Given the description of an element on the screen output the (x, y) to click on. 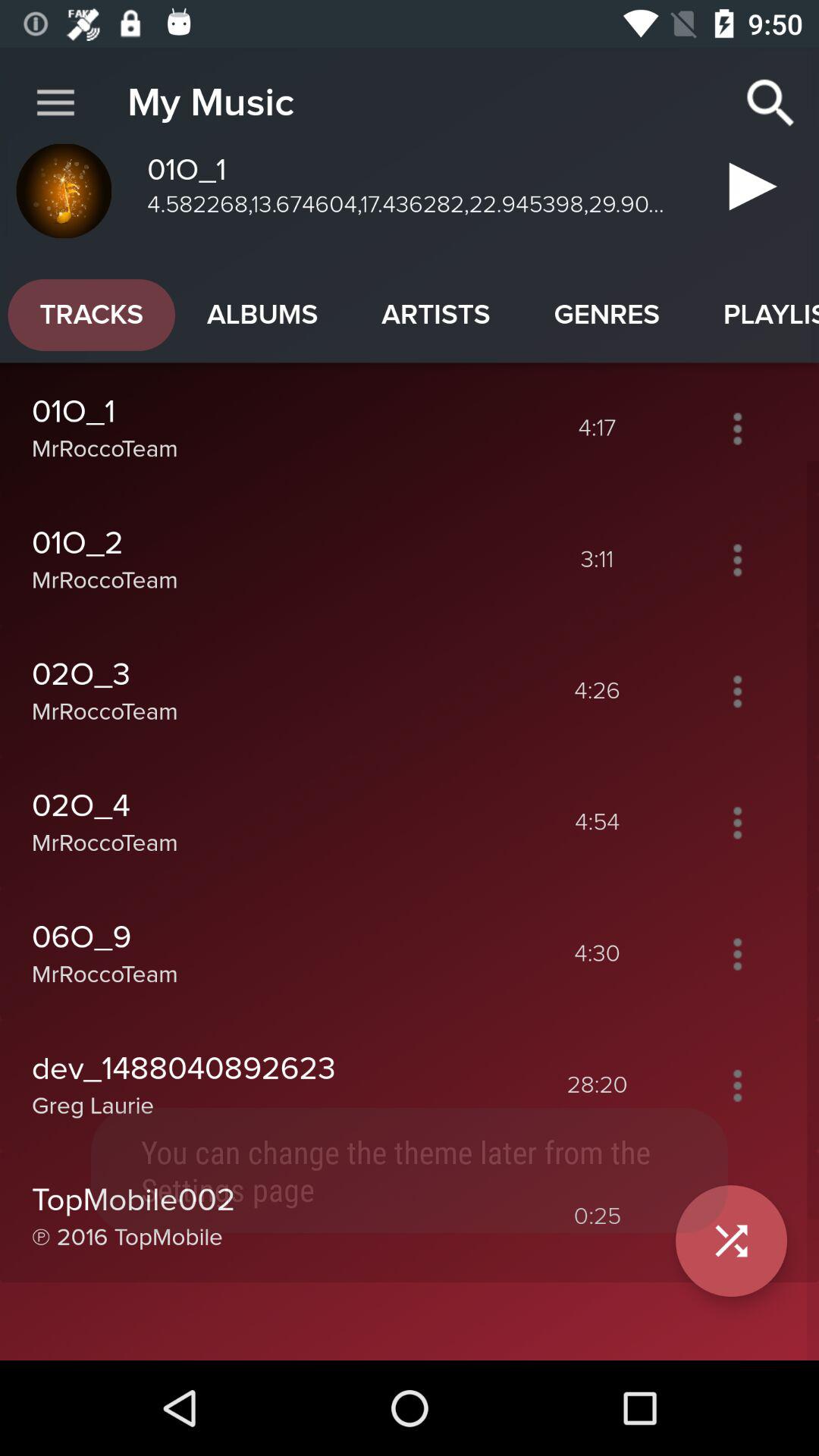
choose app above tracks item (55, 103)
